Given the description of an element on the screen output the (x, y) to click on. 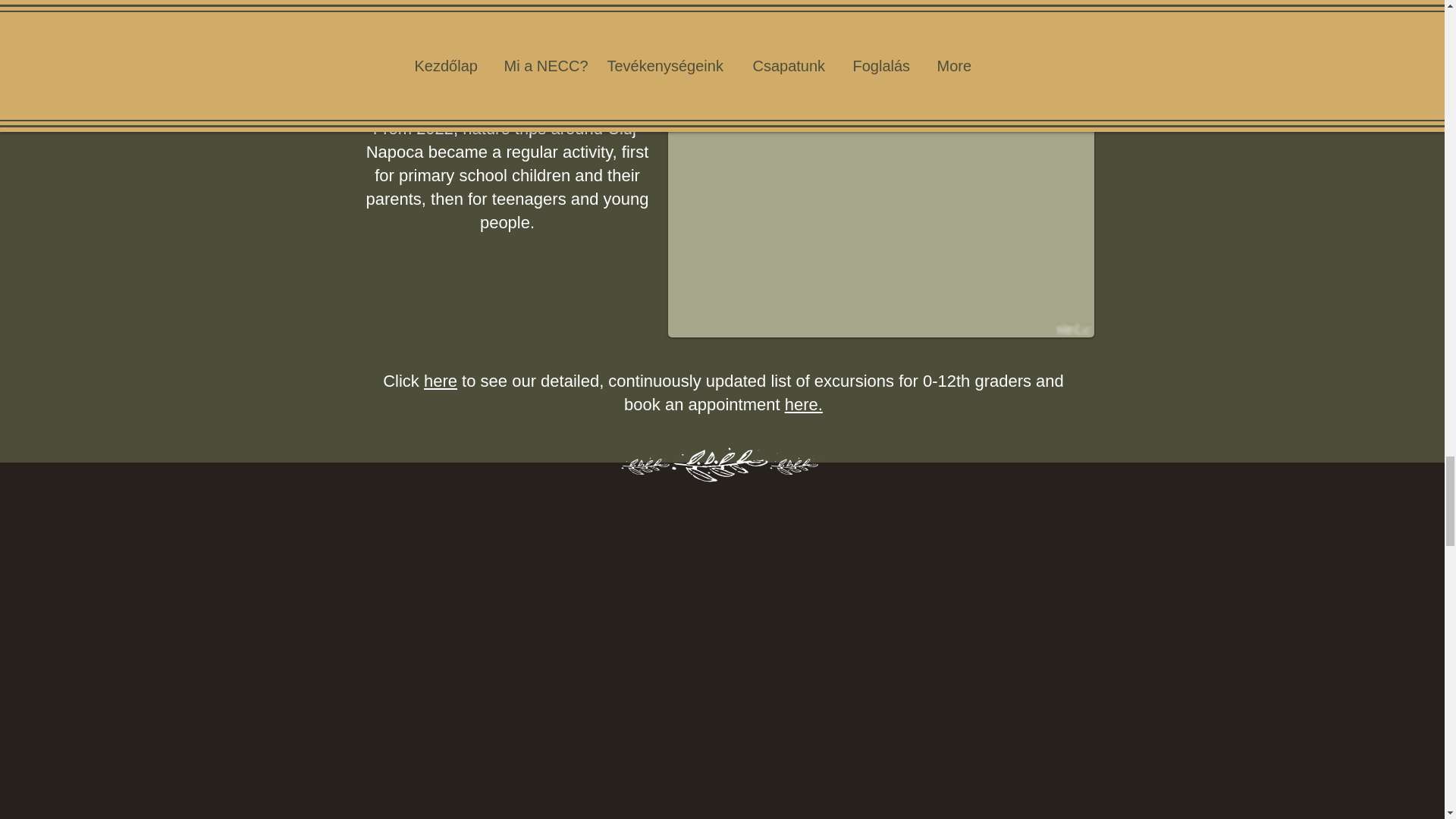
here. (803, 404)
here (440, 380)
